Given the description of an element on the screen output the (x, y) to click on. 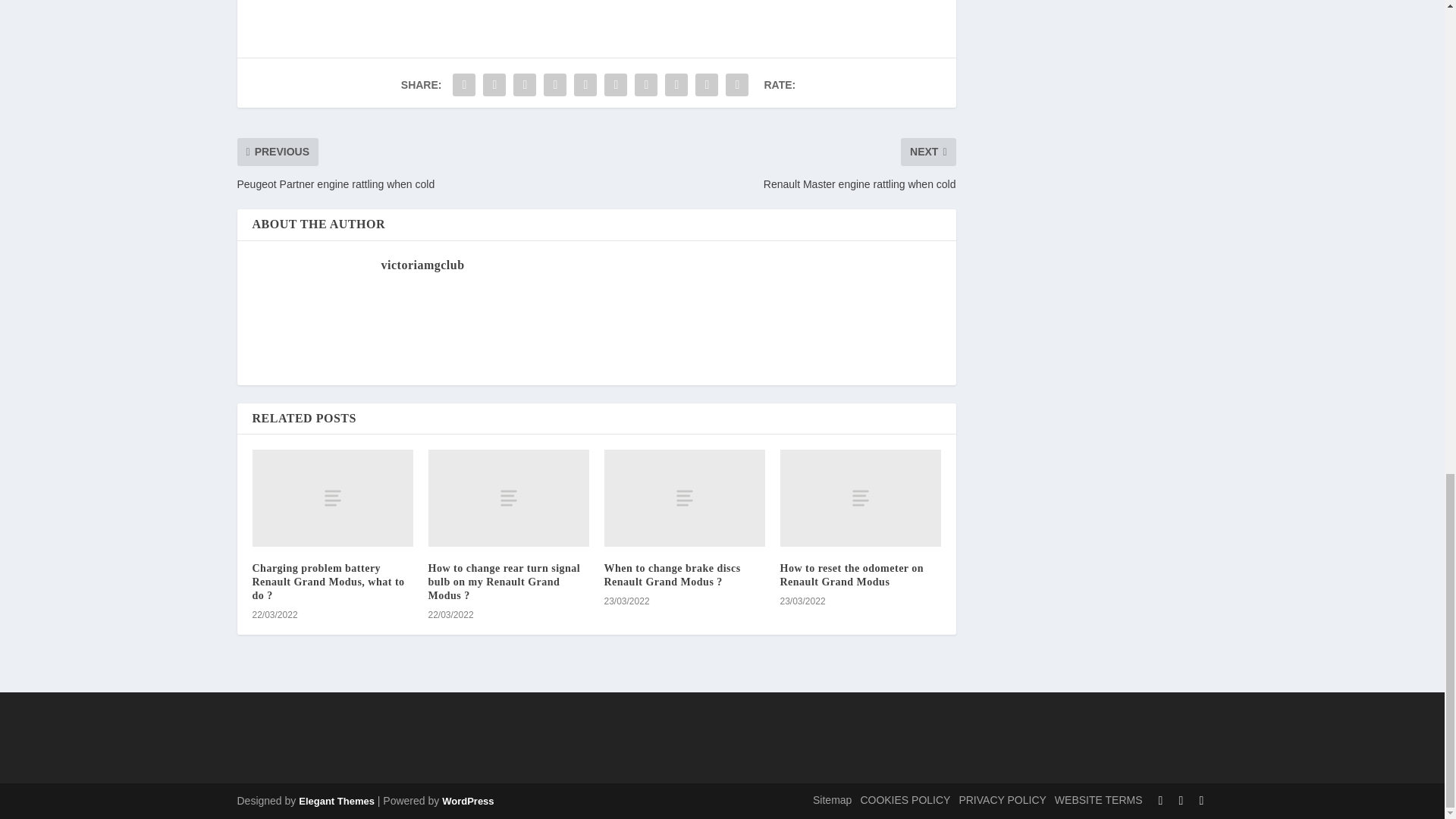
WEBSITE TERMS (1098, 799)
WordPress (467, 800)
When to change brake discs Renault Grand Modus ? (671, 575)
Sitemap (831, 799)
COOKIES POLICY (905, 799)
Charging problem battery Renault Grand Modus, what to do ? (327, 581)
Elegant Themes (336, 800)
